Given the description of an element on the screen output the (x, y) to click on. 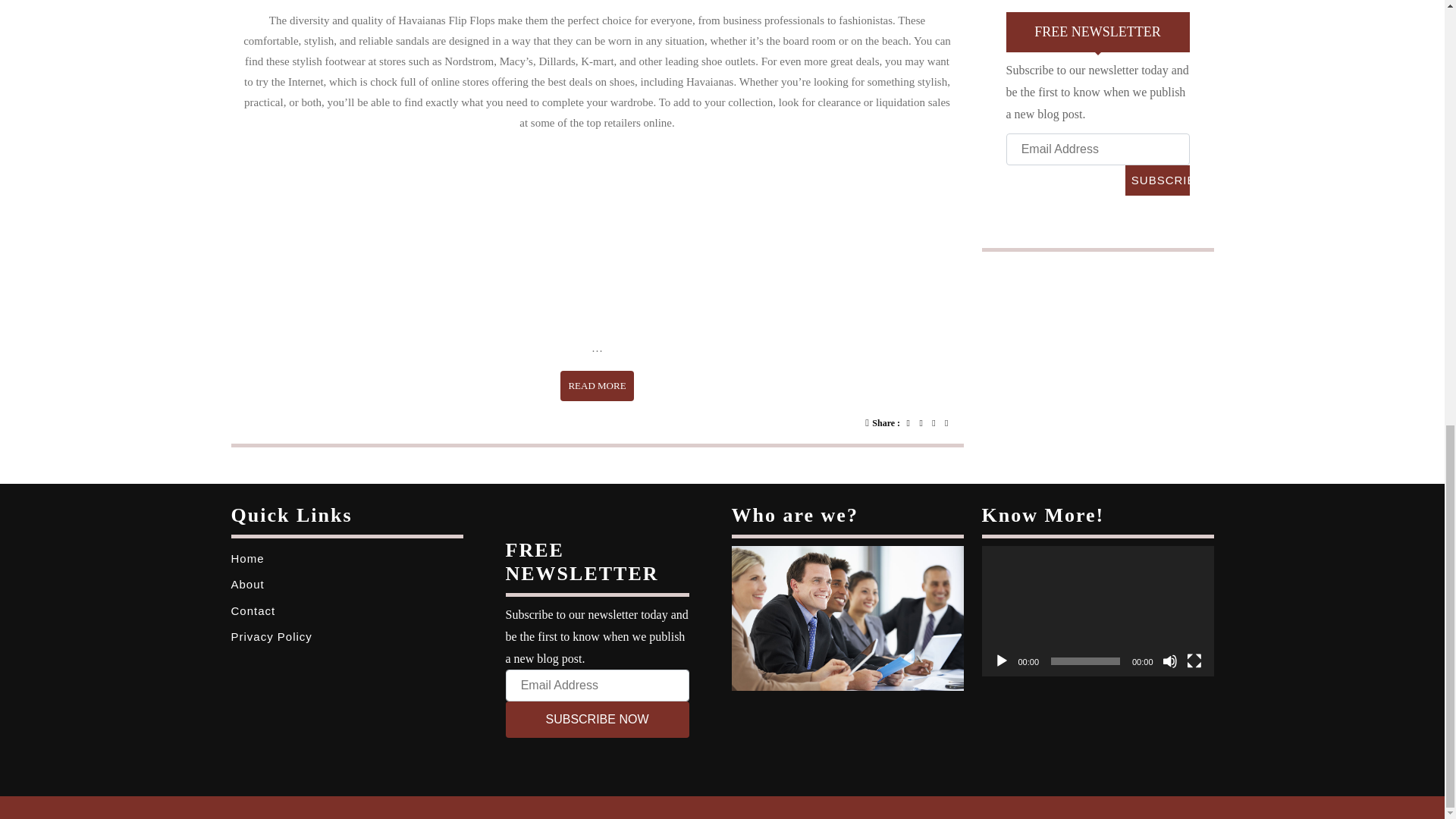
SUBSCRIBE NOW (1157, 180)
About (246, 584)
Play (1000, 661)
Contact (252, 610)
SUBSCRIBE NOW (596, 386)
SUBSCRIBE NOW (1157, 180)
Mute (596, 719)
Fullscreen (1168, 661)
Home (1193, 661)
